Given the description of an element on the screen output the (x, y) to click on. 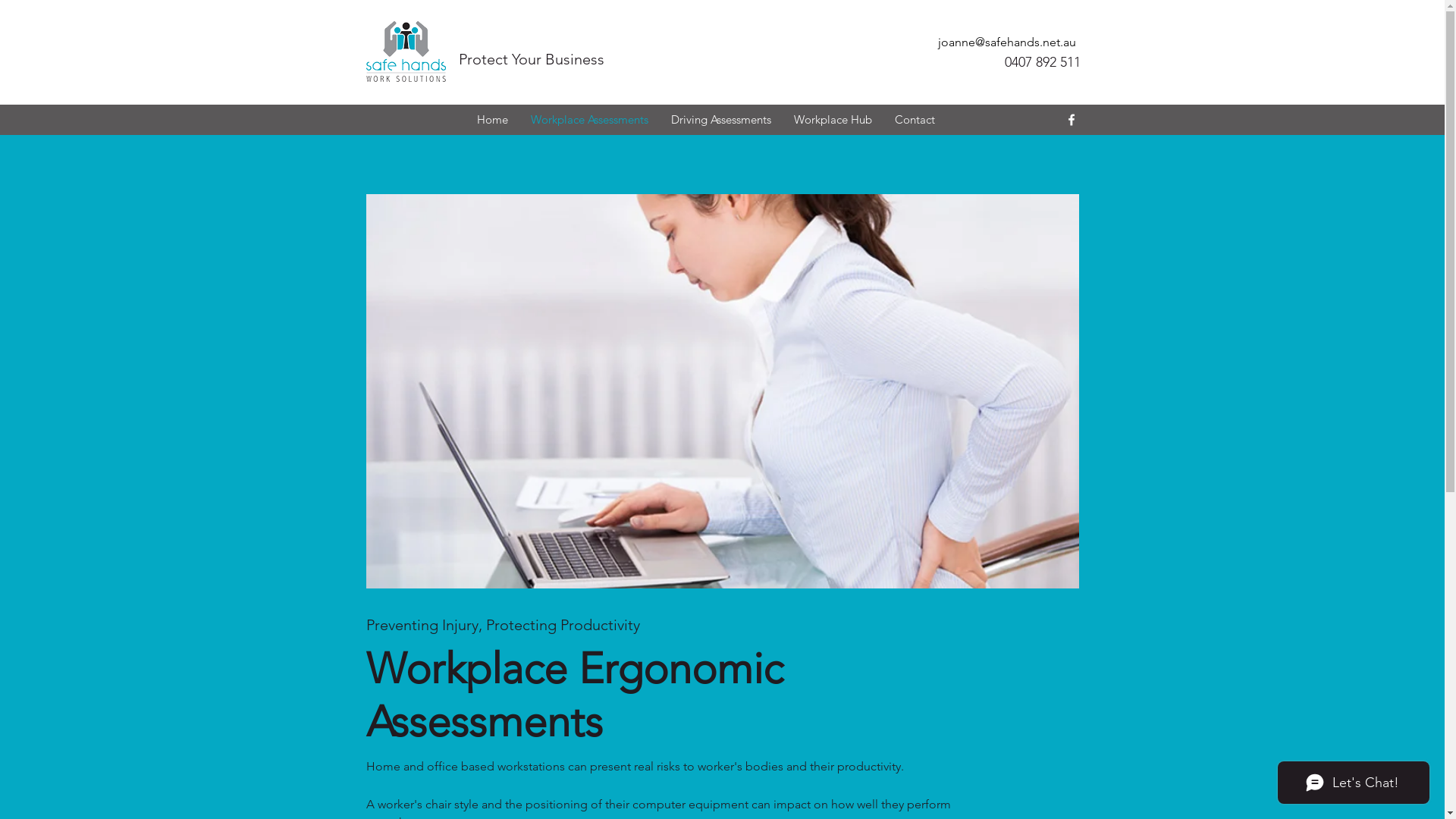
Home Element type: text (492, 119)
Workplace Hub Element type: text (832, 119)
joanne@safehands.net.au Element type: text (1006, 41)
Workplace Assessments Element type: text (588, 119)
An ergonomic assessment can save worker health issue. Element type: hover (721, 391)
Driving Assessments Element type: text (720, 119)
Contact Element type: text (913, 119)
0407 892 511 Element type: text (1041, 61)
